Given the description of an element on the screen output the (x, y) to click on. 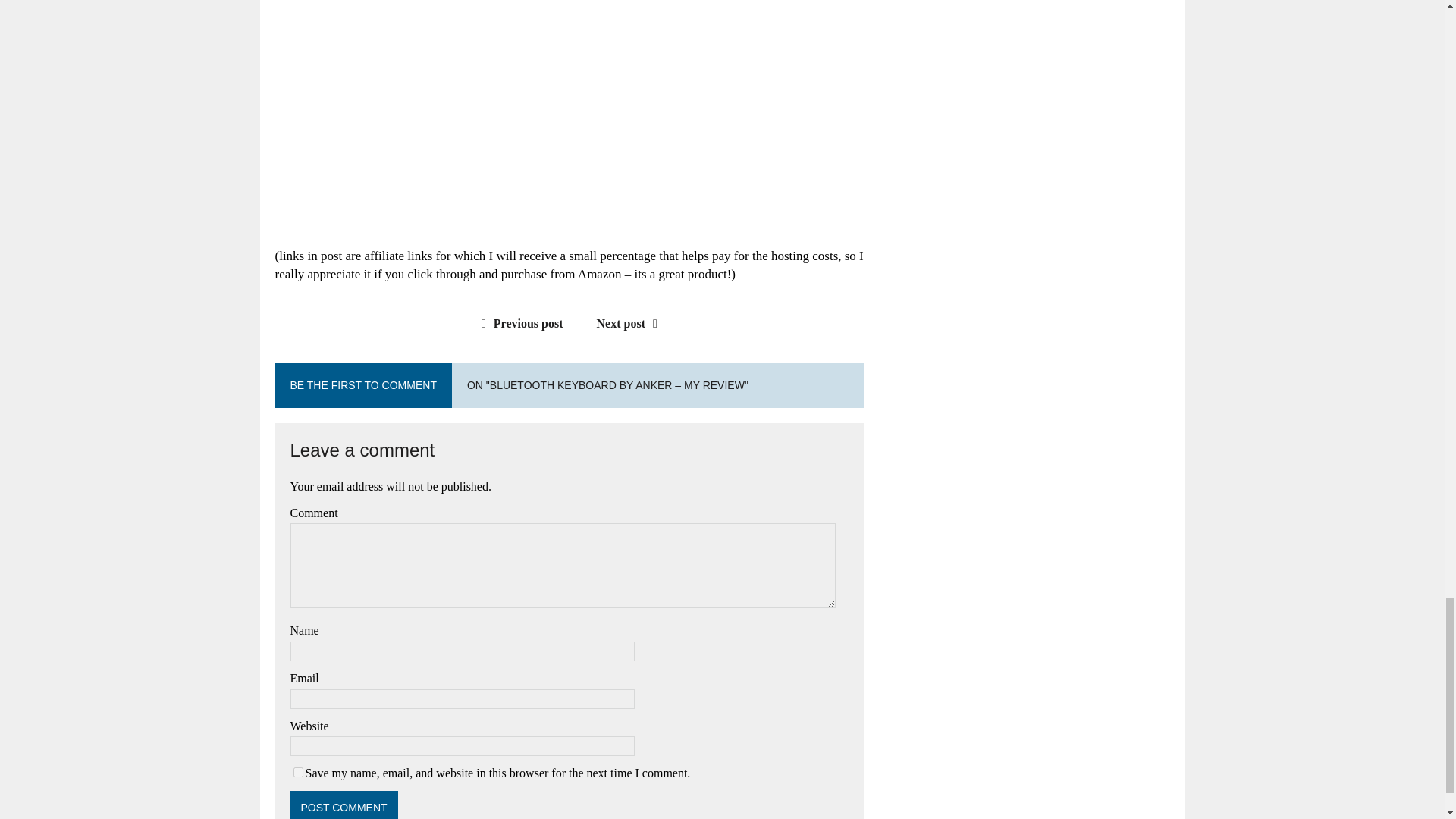
Post Comment (343, 805)
Post Comment (343, 805)
Previous post (518, 323)
yes (297, 772)
Next post (630, 323)
